Given the description of an element on the screen output the (x, y) to click on. 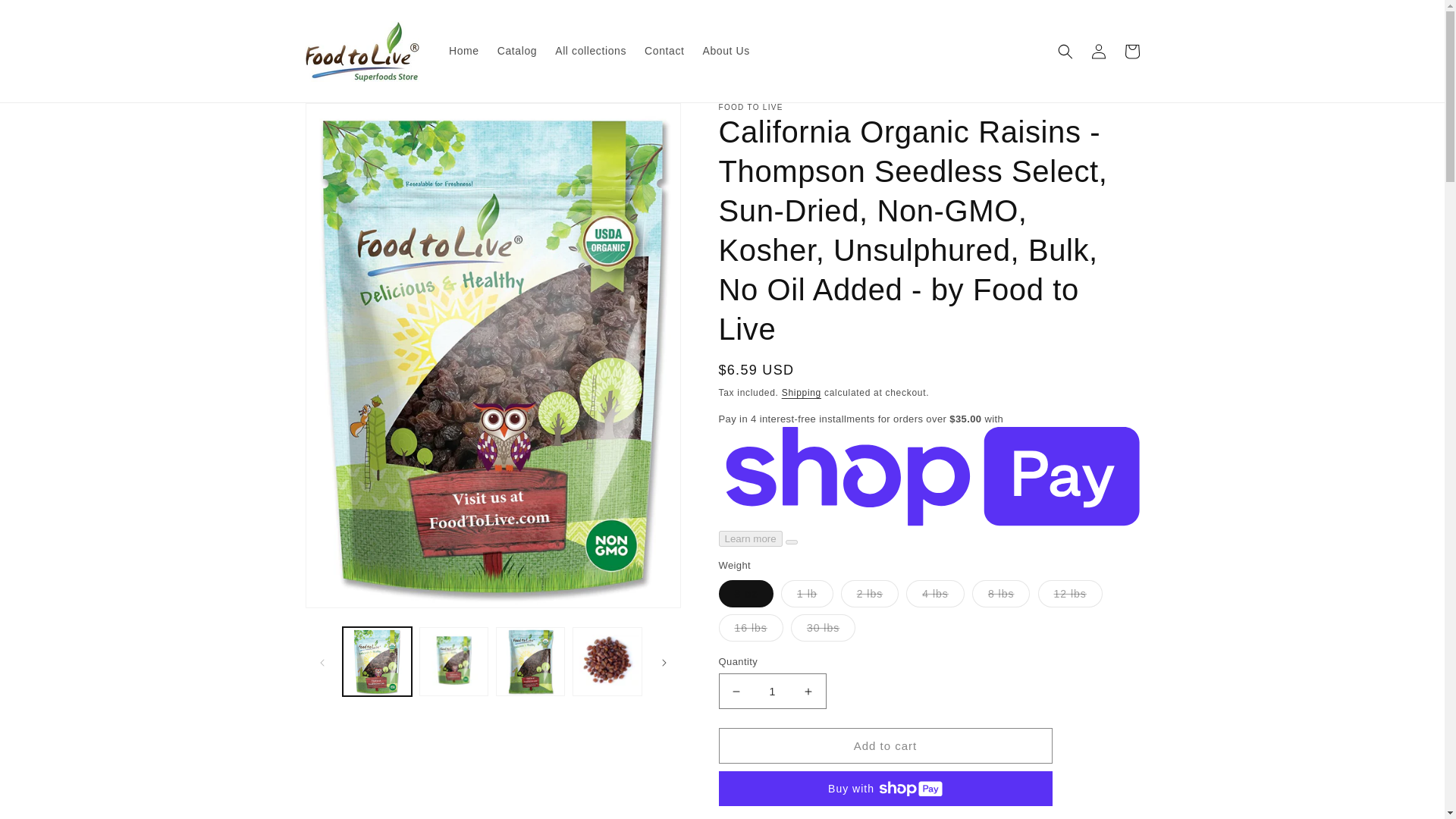
Contact (663, 50)
1 (773, 691)
Home (463, 50)
Log in (1098, 51)
Catalog (516, 50)
Skip to content (45, 17)
All collections (590, 50)
Cart (1131, 51)
